Given the description of an element on the screen output the (x, y) to click on. 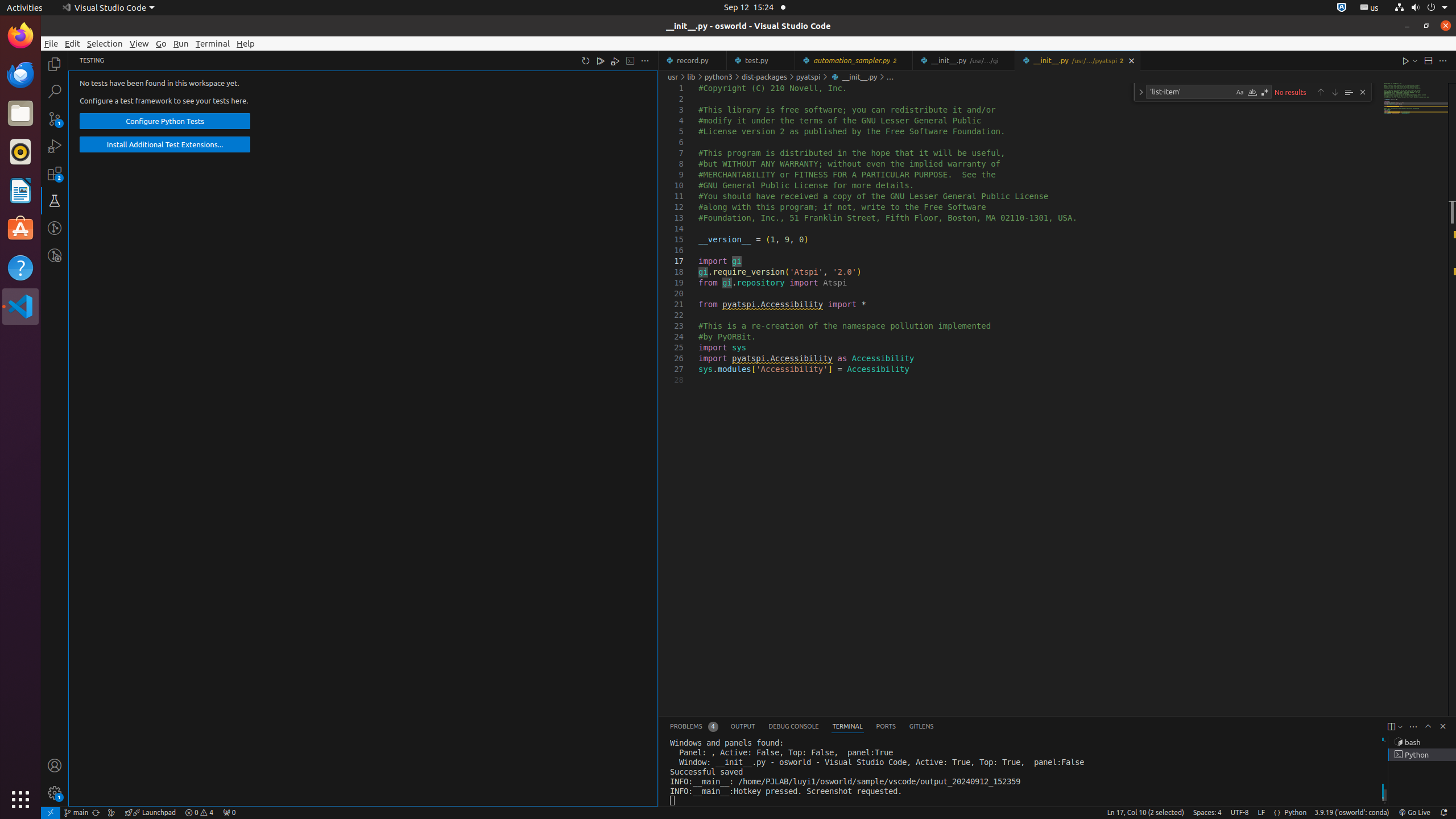
Maximize Panel Size Element type: check-box (1427, 726)
Spaces: 4 Element type: push-button (1206, 812)
Warnings: 4 Element type: push-button (199, 812)
Active View Switcher Element type: page-tab-list (801, 726)
File Element type: push-button (50, 43)
